Given the description of an element on the screen output the (x, y) to click on. 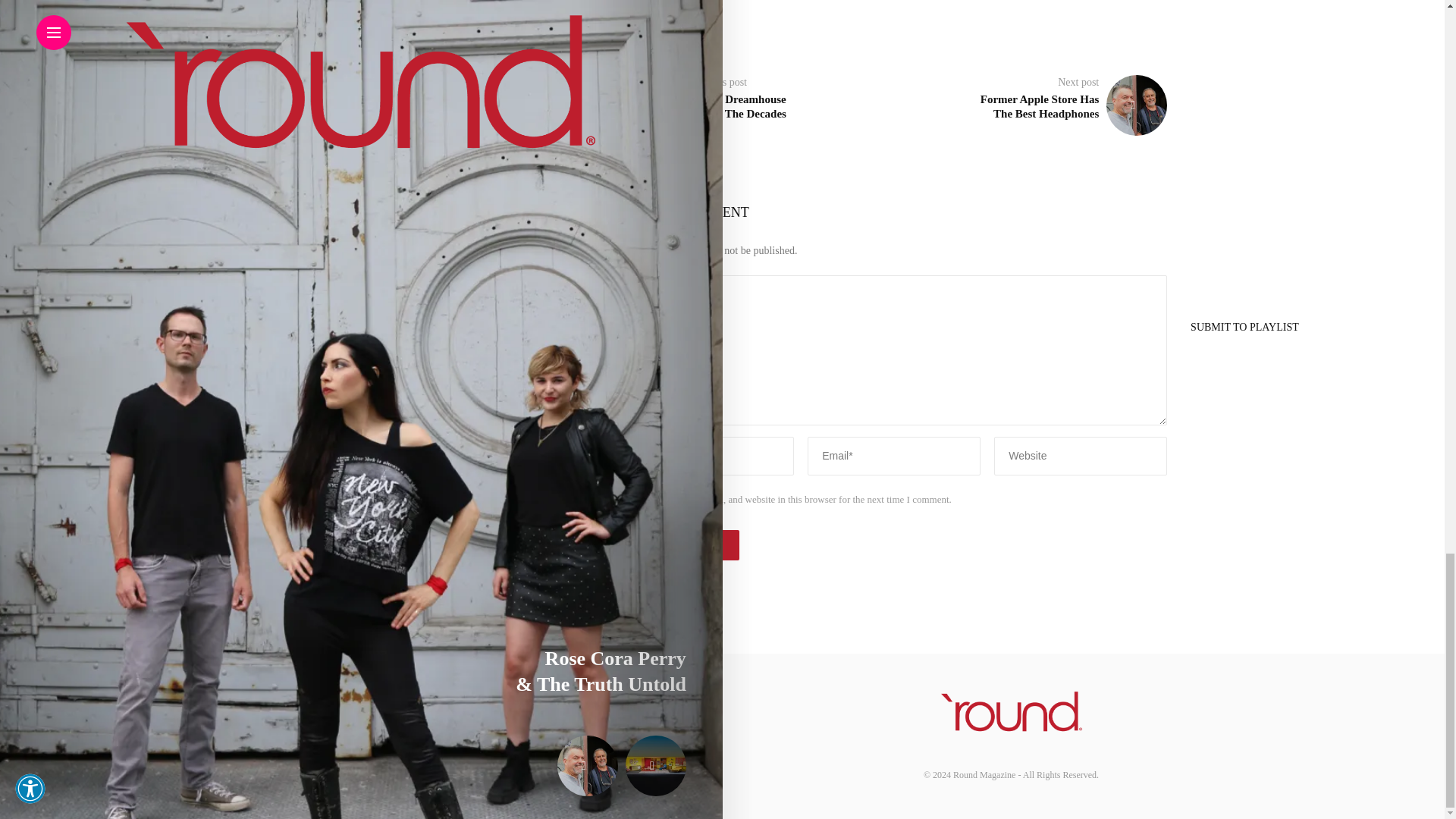
Post Comment (680, 545)
Post Comment (680, 545)
yes (627, 499)
MUSIC (643, 20)
ROCK (692, 20)
